Given the description of an element on the screen output the (x, y) to click on. 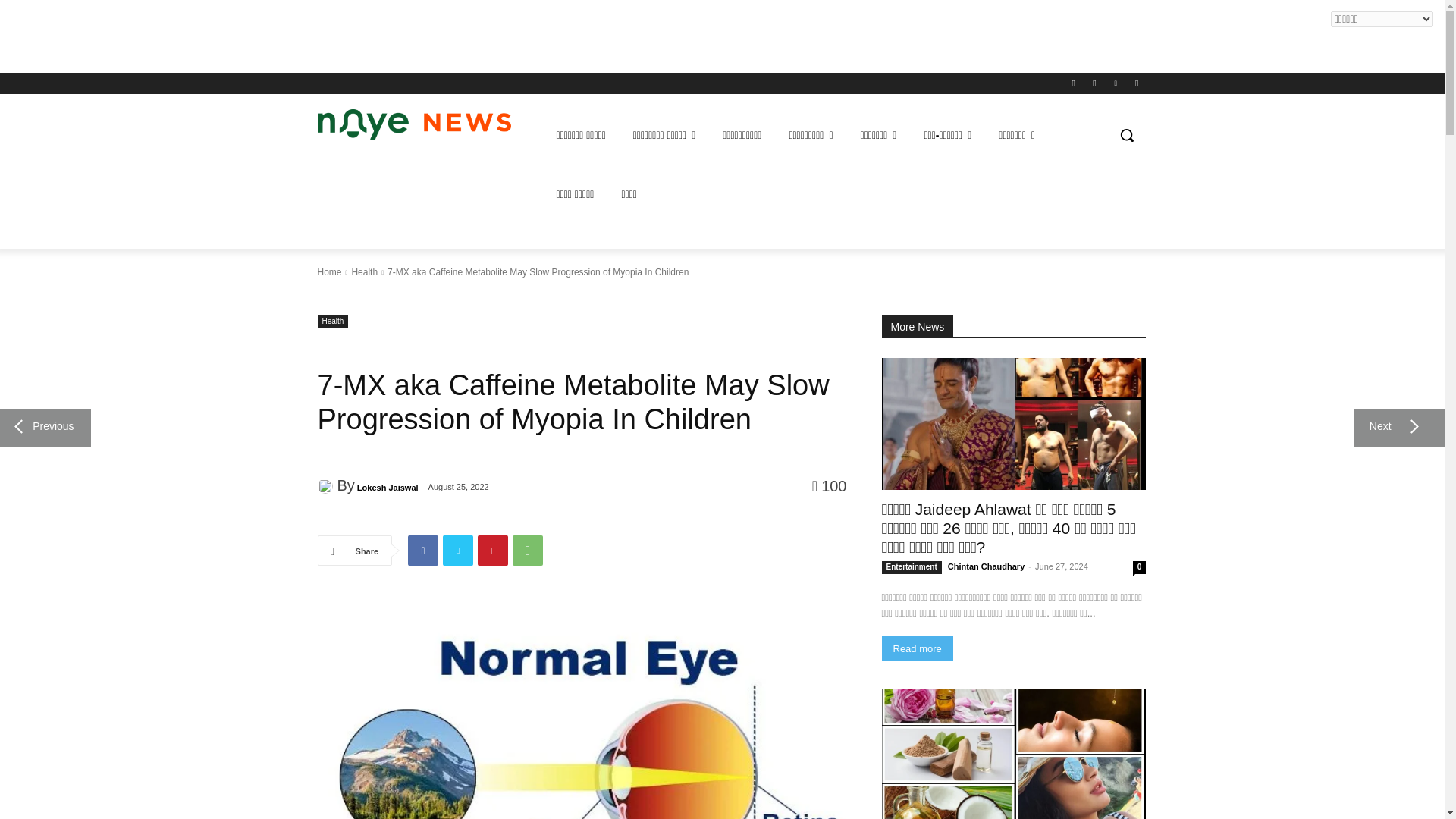
Youtube (1136, 82)
Advertisement (275, 33)
Instagram (1094, 82)
Twitter (1115, 82)
Facebook (1072, 82)
